Given the description of an element on the screen output the (x, y) to click on. 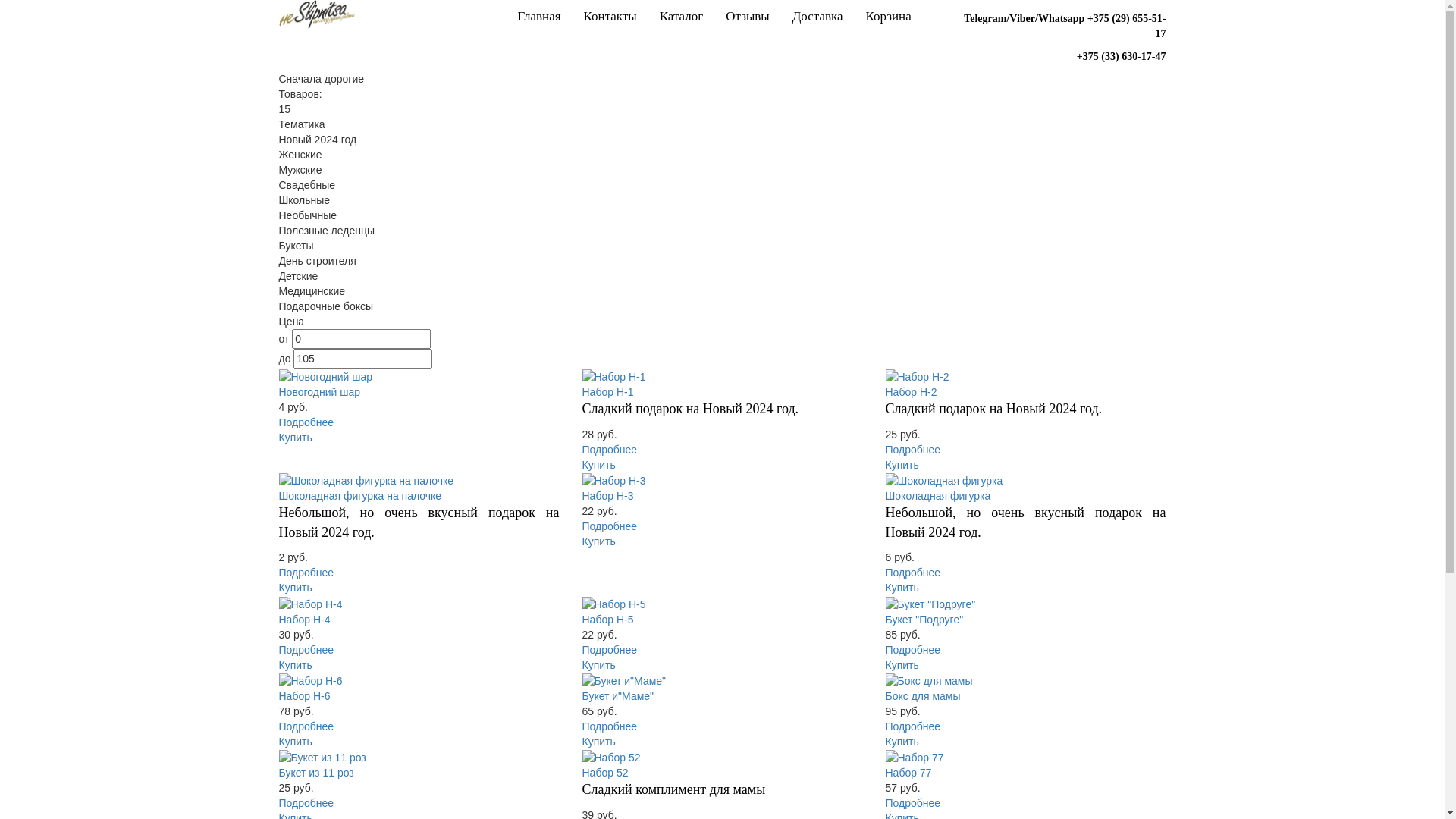
+375 (29)  Element type: text (1109, 18)
